Given the description of an element on the screen output the (x, y) to click on. 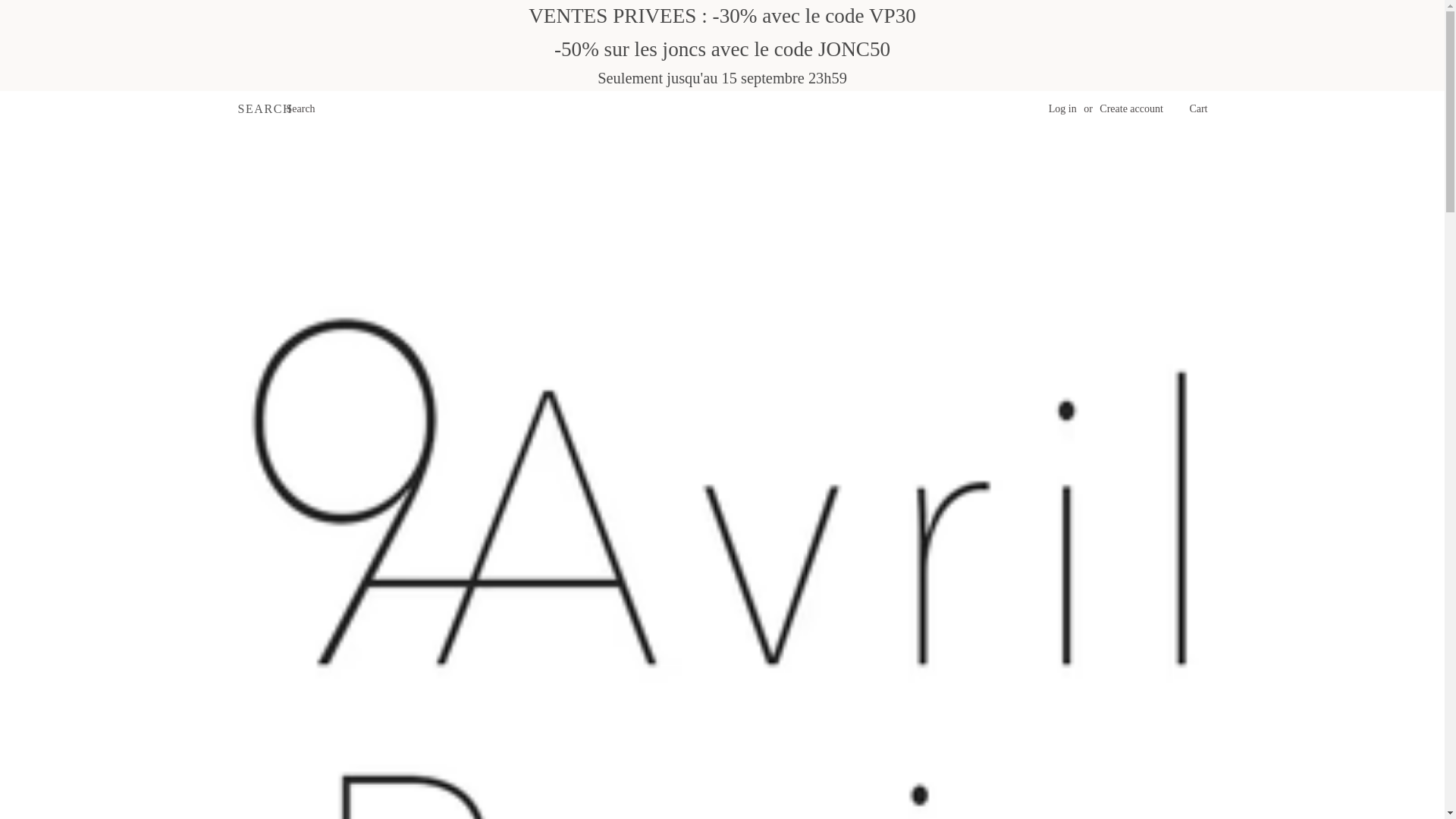
SEARCH (260, 109)
Cart (1198, 108)
Log in (1062, 108)
Create account (1131, 108)
